Given the description of an element on the screen output the (x, y) to click on. 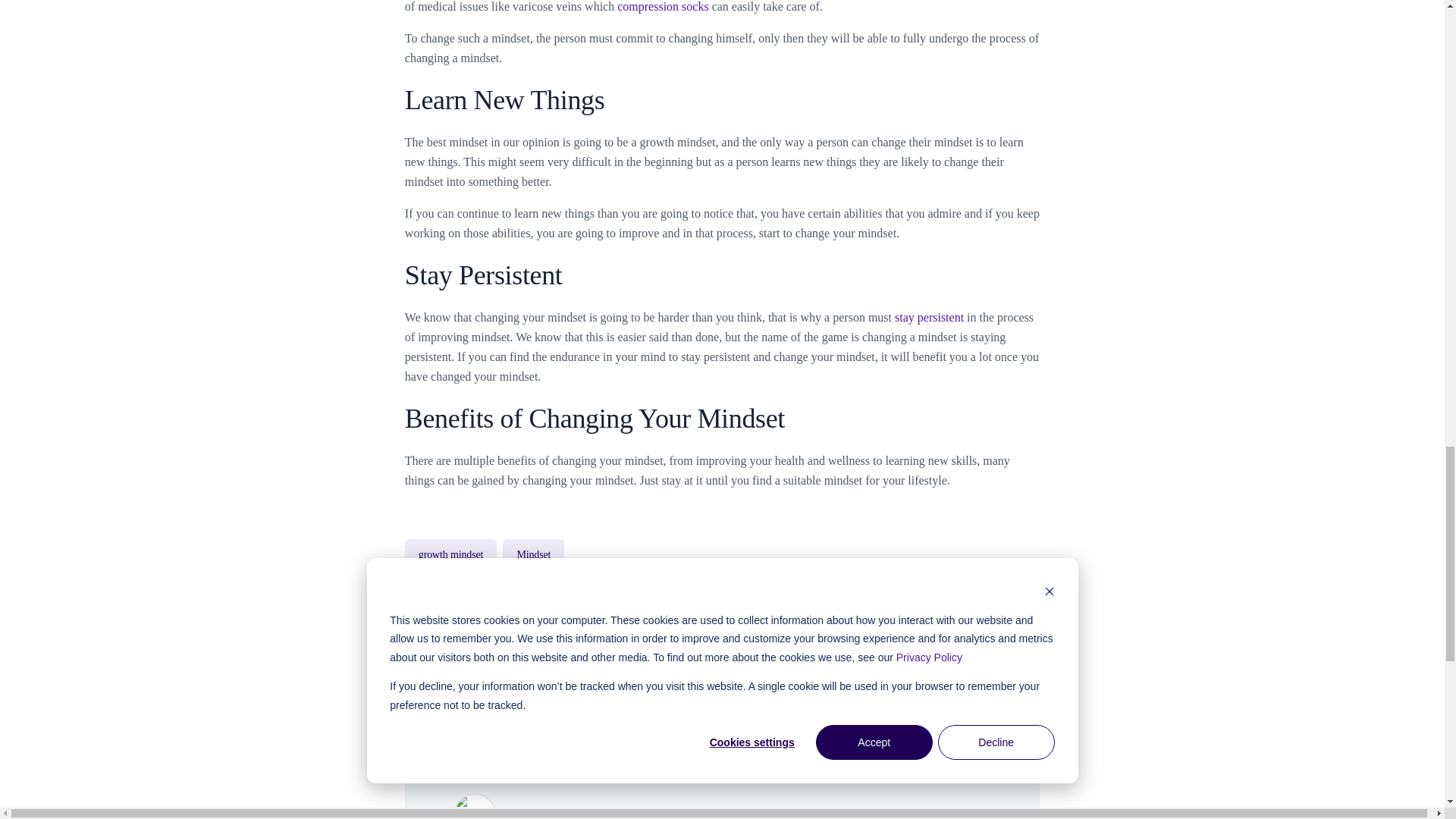
Facebook (925, 675)
Mubashir Mazhar (559, 812)
LinkedIn (1005, 675)
Twitter (965, 675)
